Given the description of an element on the screen output the (x, y) to click on. 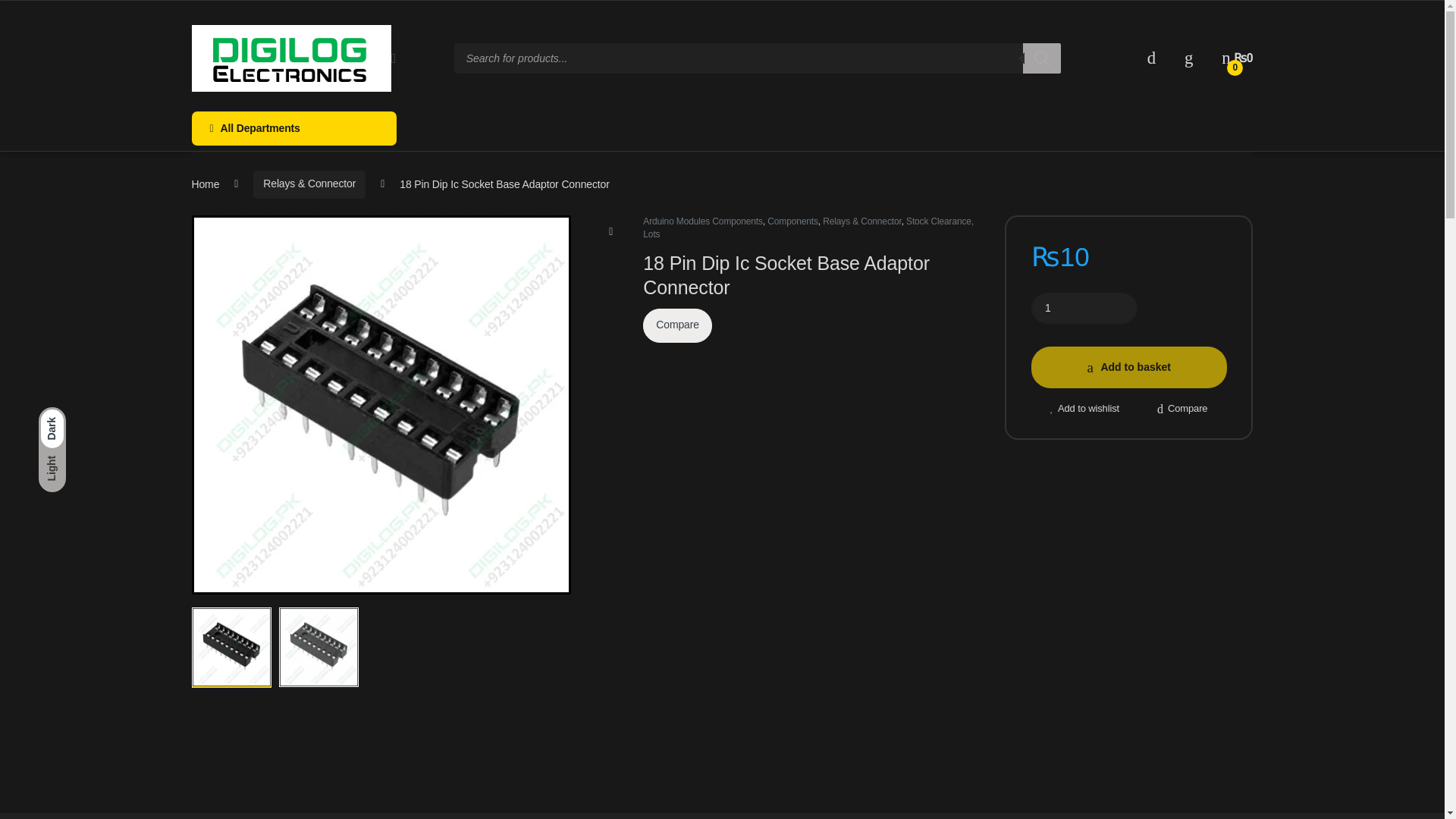
Arduino Modules Components (702, 221)
Compare (1182, 404)
Add to basket (1128, 367)
Components (792, 221)
All Departments (293, 128)
Stock Clearance, Lots (808, 227)
Compare (677, 325)
1 (1083, 307)
Qty (1083, 307)
